Given the description of an element on the screen output the (x, y) to click on. 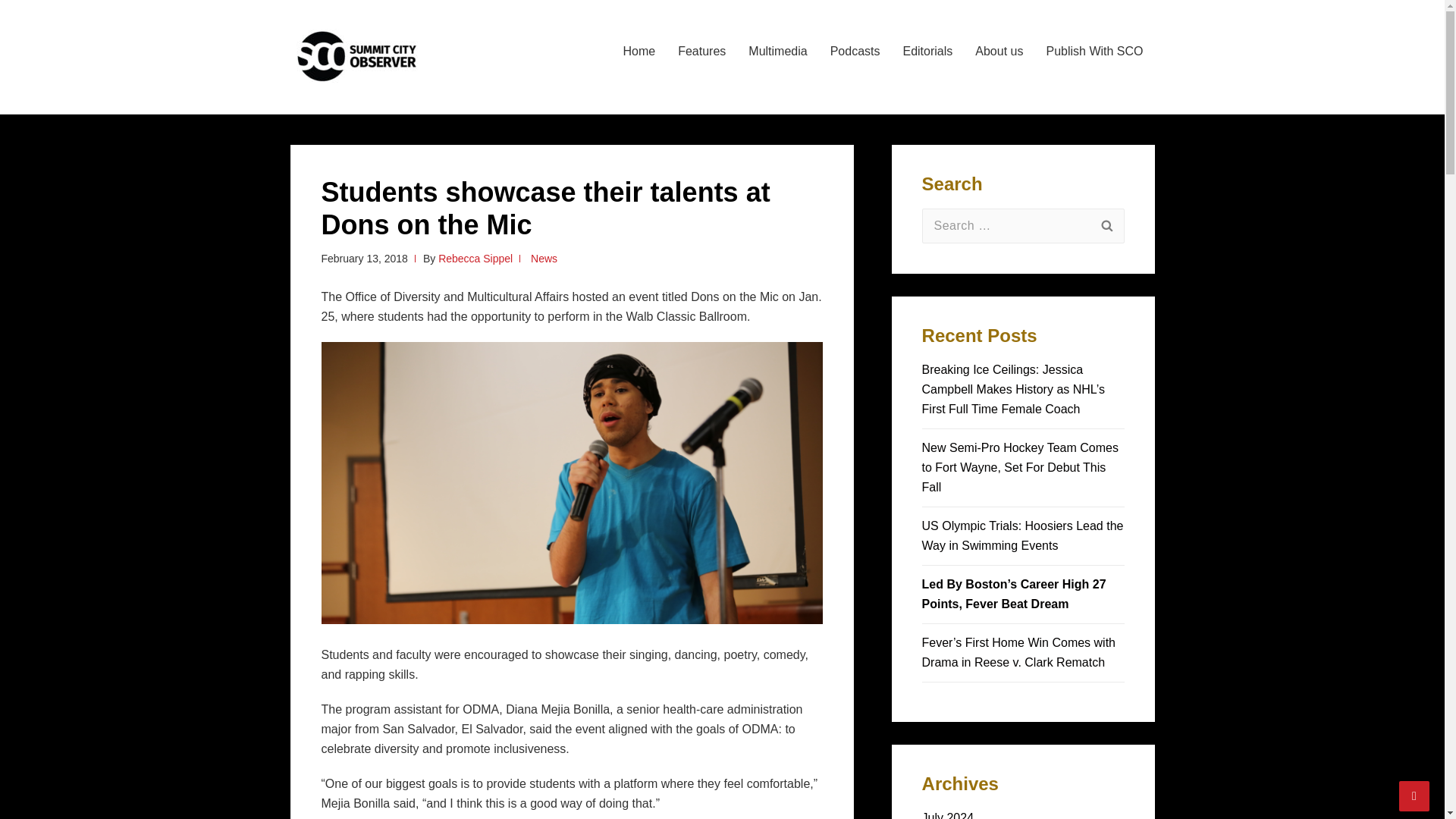
Search (1106, 225)
Rebecca Sippel (475, 258)
Search (1106, 225)
Multimedia (777, 51)
Home (638, 51)
Podcasts (854, 51)
US Olympic Trials: Hoosiers Lead the Way in Swimming Events (1022, 535)
Features (701, 51)
View all posts by Rebecca Sippel (475, 258)
July 2024 (947, 815)
Search (1106, 225)
Publish With SCO (1093, 51)
About us (998, 51)
News (544, 258)
